Given the description of an element on the screen output the (x, y) to click on. 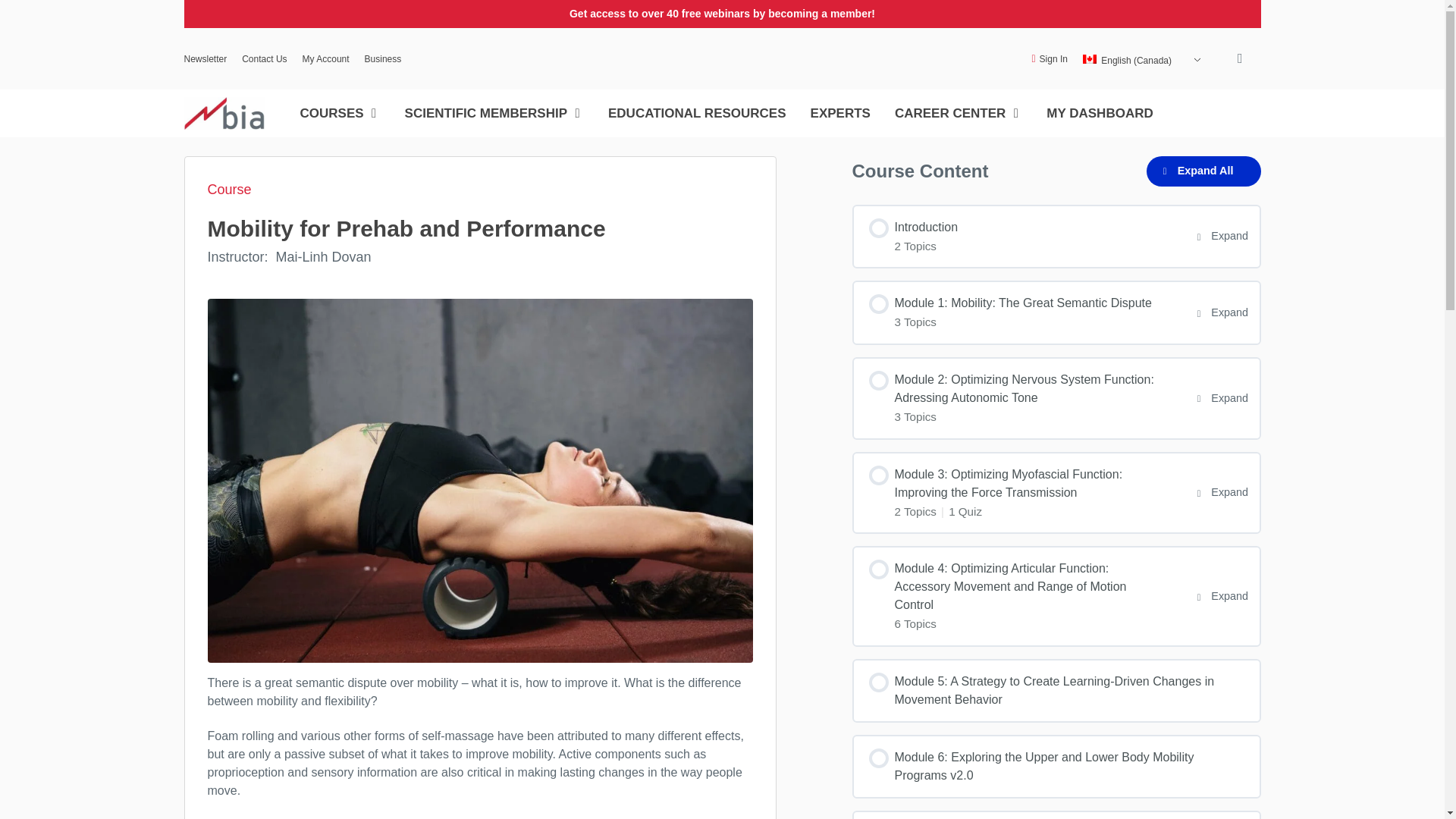
COURSES (331, 113)
Contact Us (263, 58)
Get access to over 40 free webinars by becoming a member! (722, 13)
Sign In (1044, 58)
Newsletter (205, 58)
Business (383, 58)
My Account (325, 58)
